Given the description of an element on the screen output the (x, y) to click on. 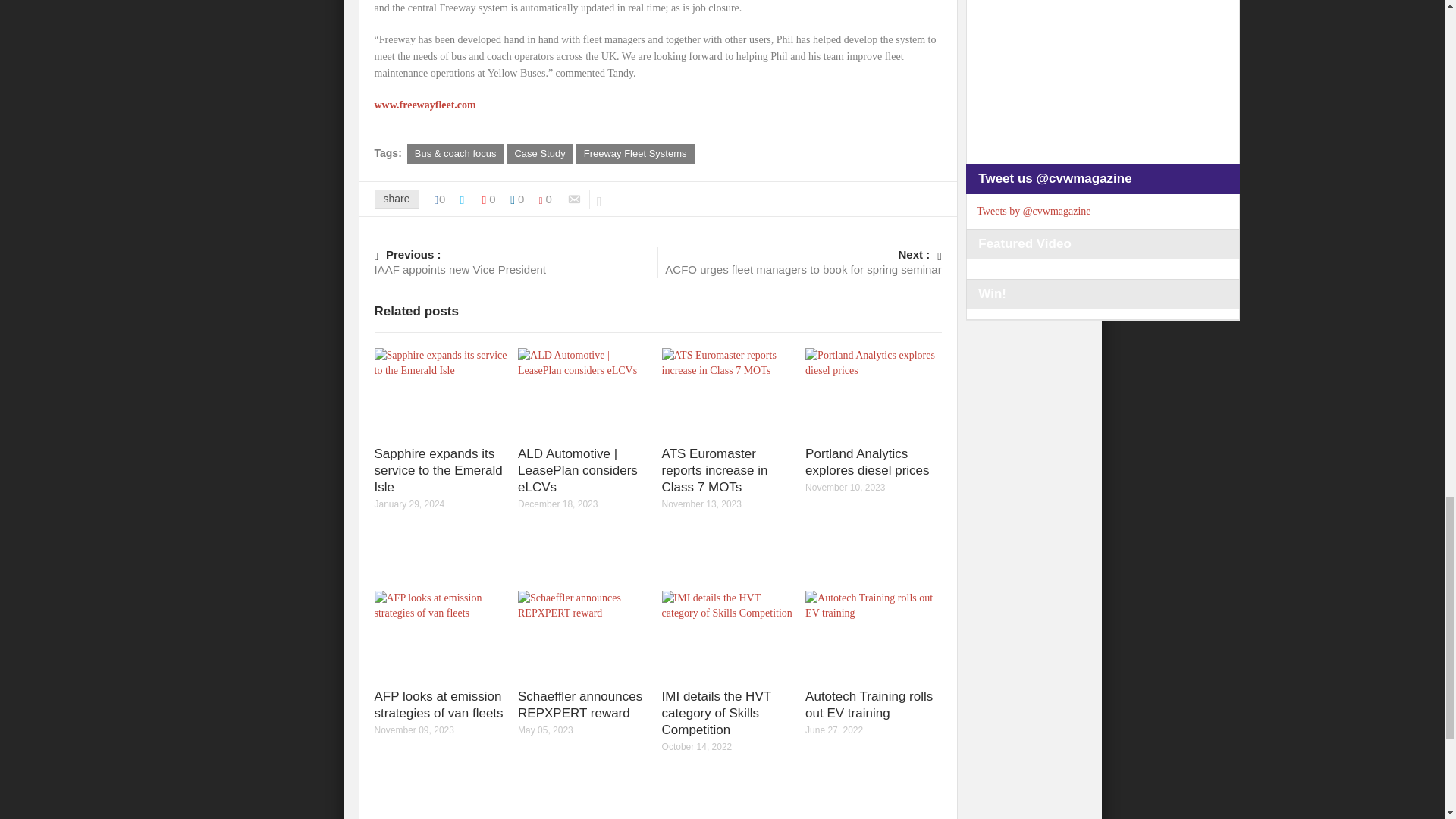
0 (516, 261)
Case Study (549, 198)
www.freewayfleet.com (539, 153)
Freeway Fleet Systems (799, 261)
0 (425, 104)
0 (635, 153)
0 (443, 198)
